Given the description of an element on the screen output the (x, y) to click on. 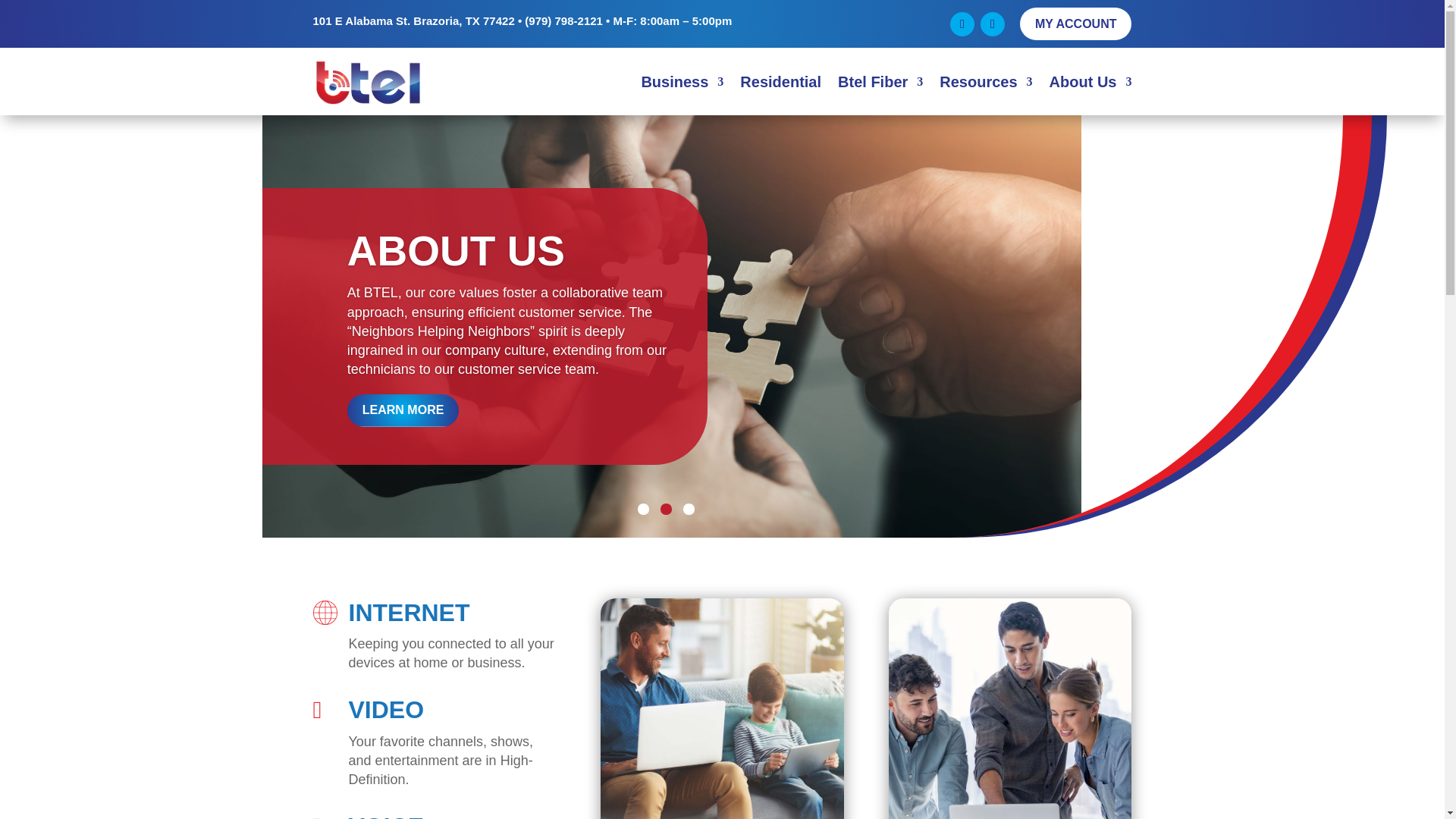
Business (681, 81)
101 E Alabama St. Brazoria, TX 77422 (413, 20)
MY ACCOUNT (1076, 23)
Follow on Instagram (991, 24)
Resources (985, 81)
Residential (780, 81)
Follow on Facebook (962, 24)
About Us (1090, 81)
Btel Fiber (880, 81)
